Given the description of an element on the screen output the (x, y) to click on. 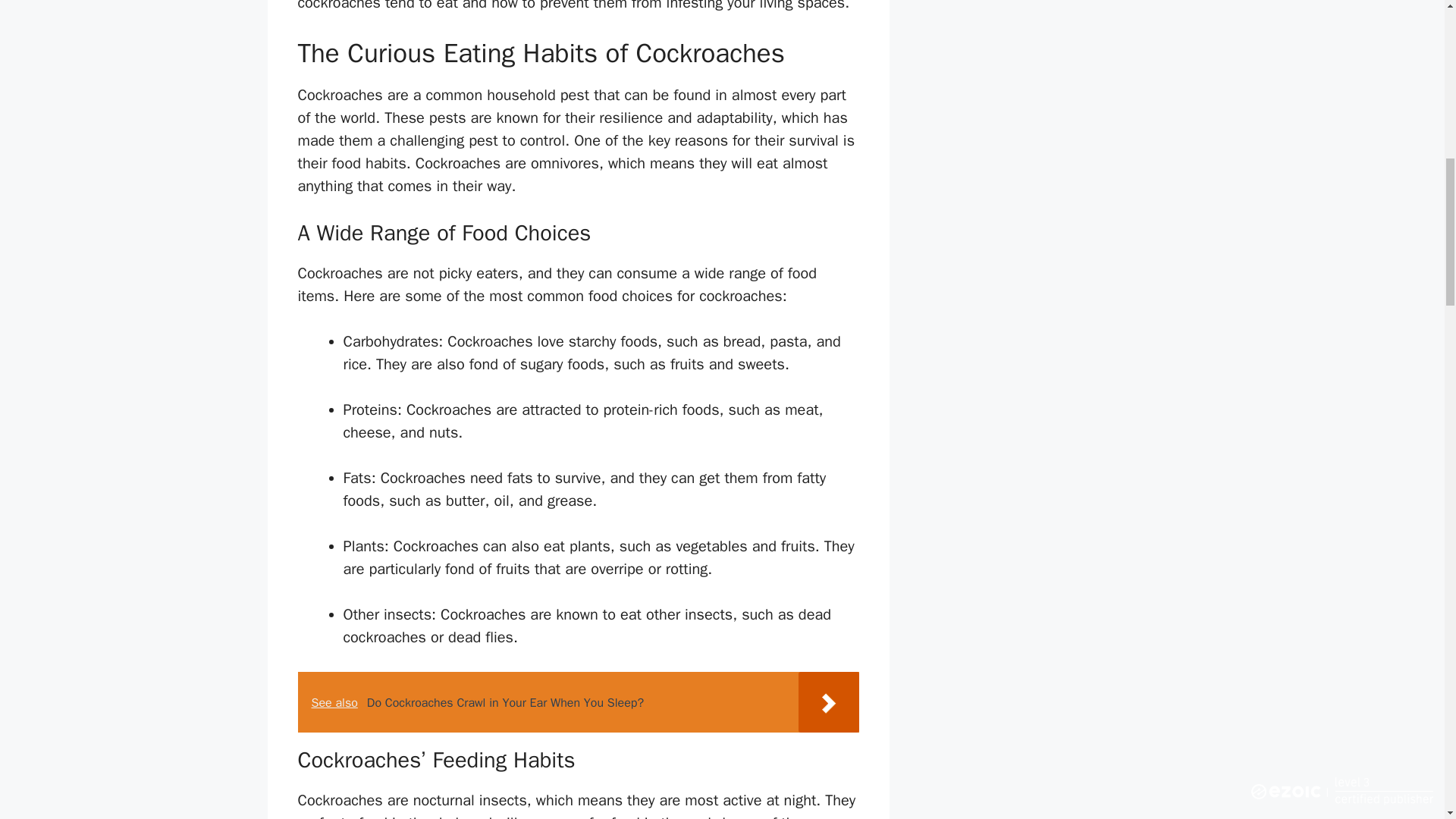
See also  Do Cockroaches Crawl in Your Ear When You Sleep? (578, 701)
